Given the description of an element on the screen output the (x, y) to click on. 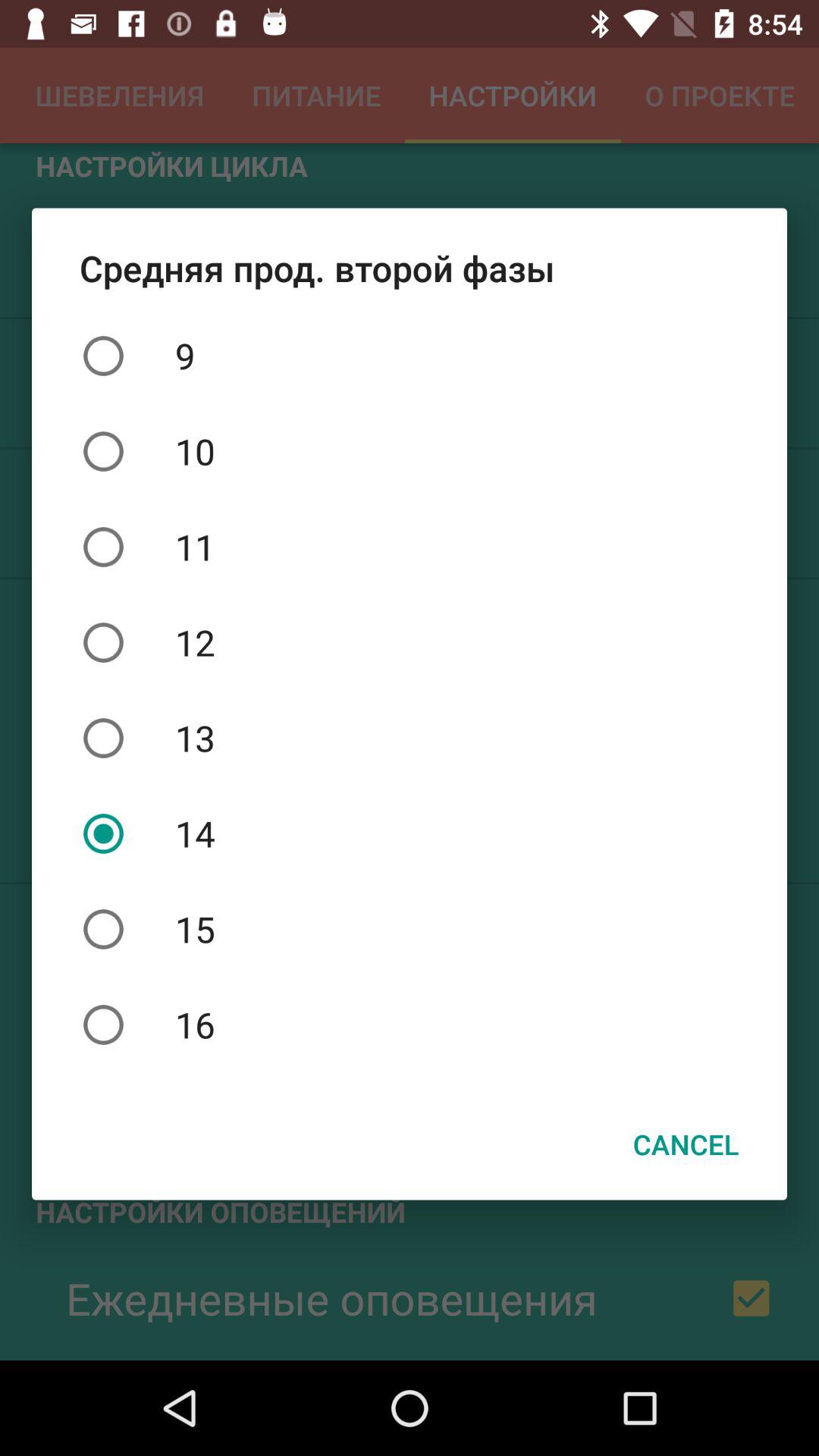
tap item above 10 icon (409, 355)
